Given the description of an element on the screen output the (x, y) to click on. 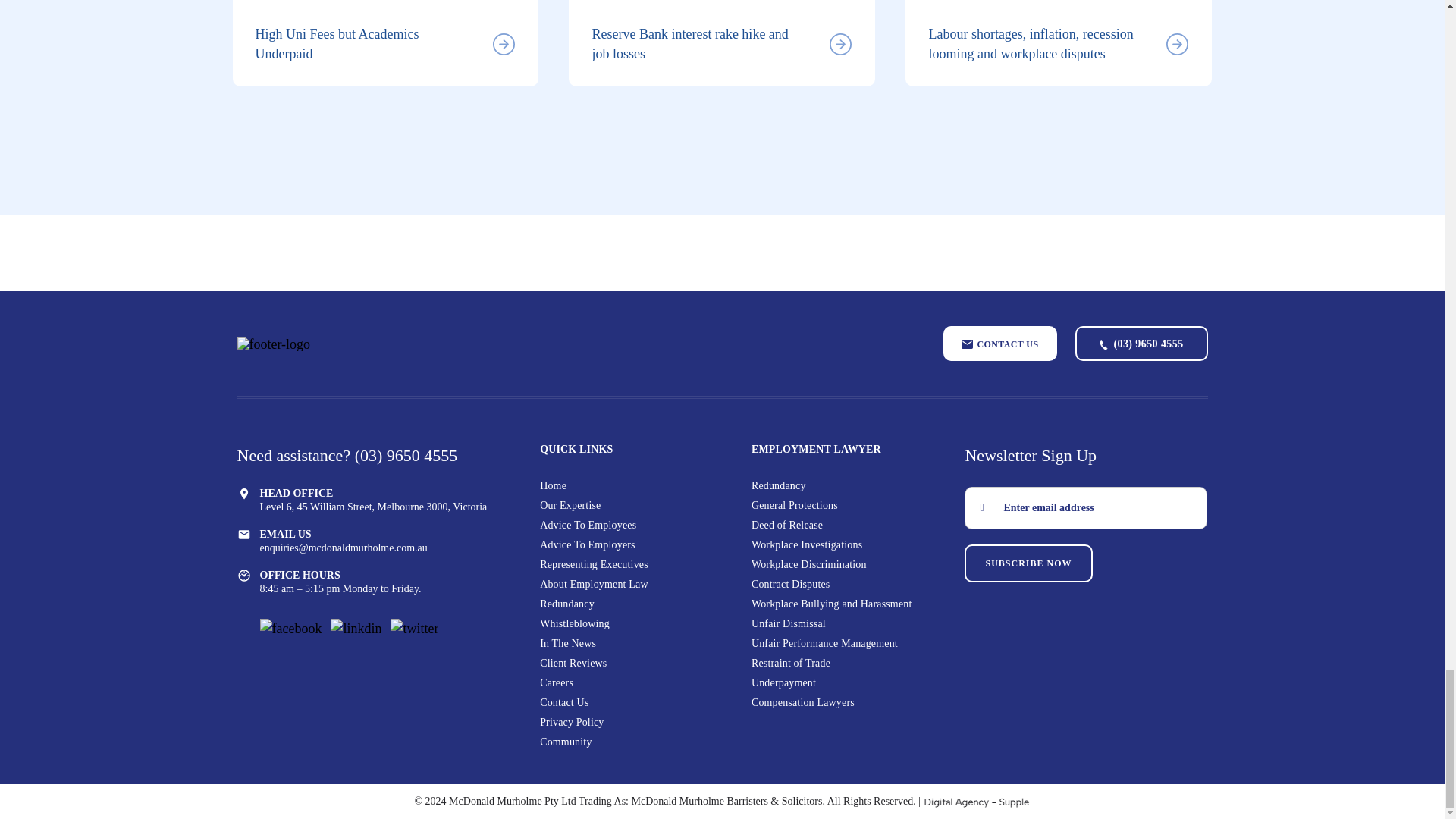
Subscribe Now (1027, 563)
